Given the description of an element on the screen output the (x, y) to click on. 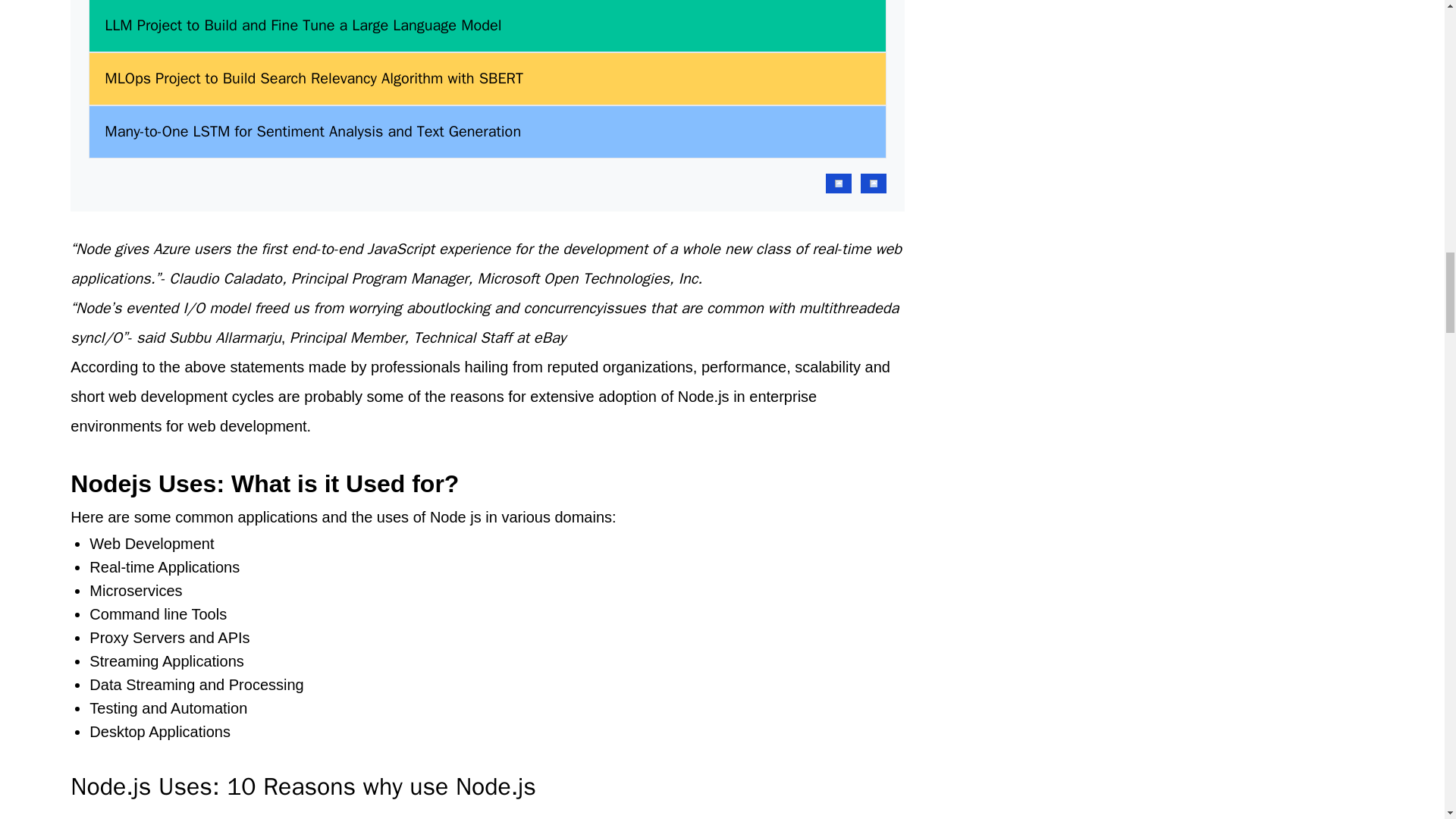
Many-to-One LSTM for Sentiment Analysis and Text Generation (312, 131)
MLOps Project to Build Search Relevancy Algorithm with SBERT (313, 78)
LLM Project to Build and Fine Tune a Large Language Model (302, 25)
